Given the description of an element on the screen output the (x, y) to click on. 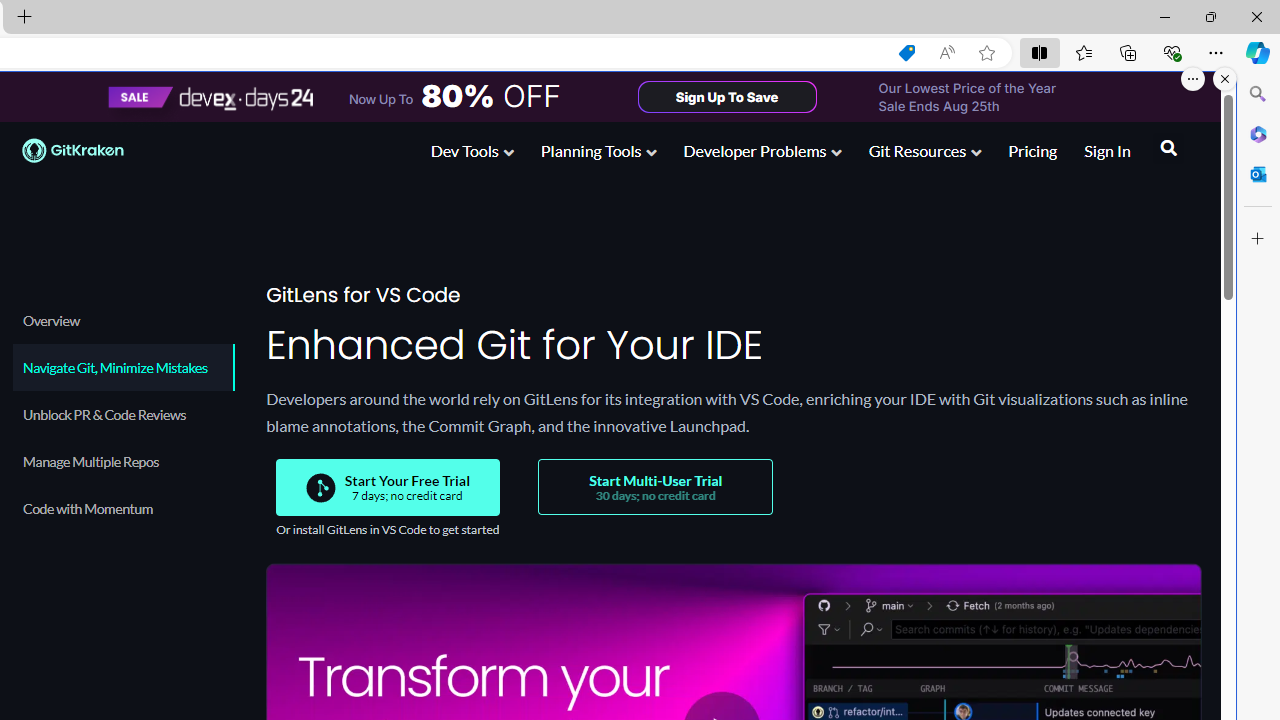
Code with Momentum (122, 508)
Pricing (1032, 152)
Overview (123, 320)
Manage Multiple Repos (123, 461)
Manage Multiple Repos (122, 461)
Pricing (1032, 150)
Unblock PR & Code Reviews (123, 413)
Overview (122, 320)
